Given the description of an element on the screen output the (x, y) to click on. 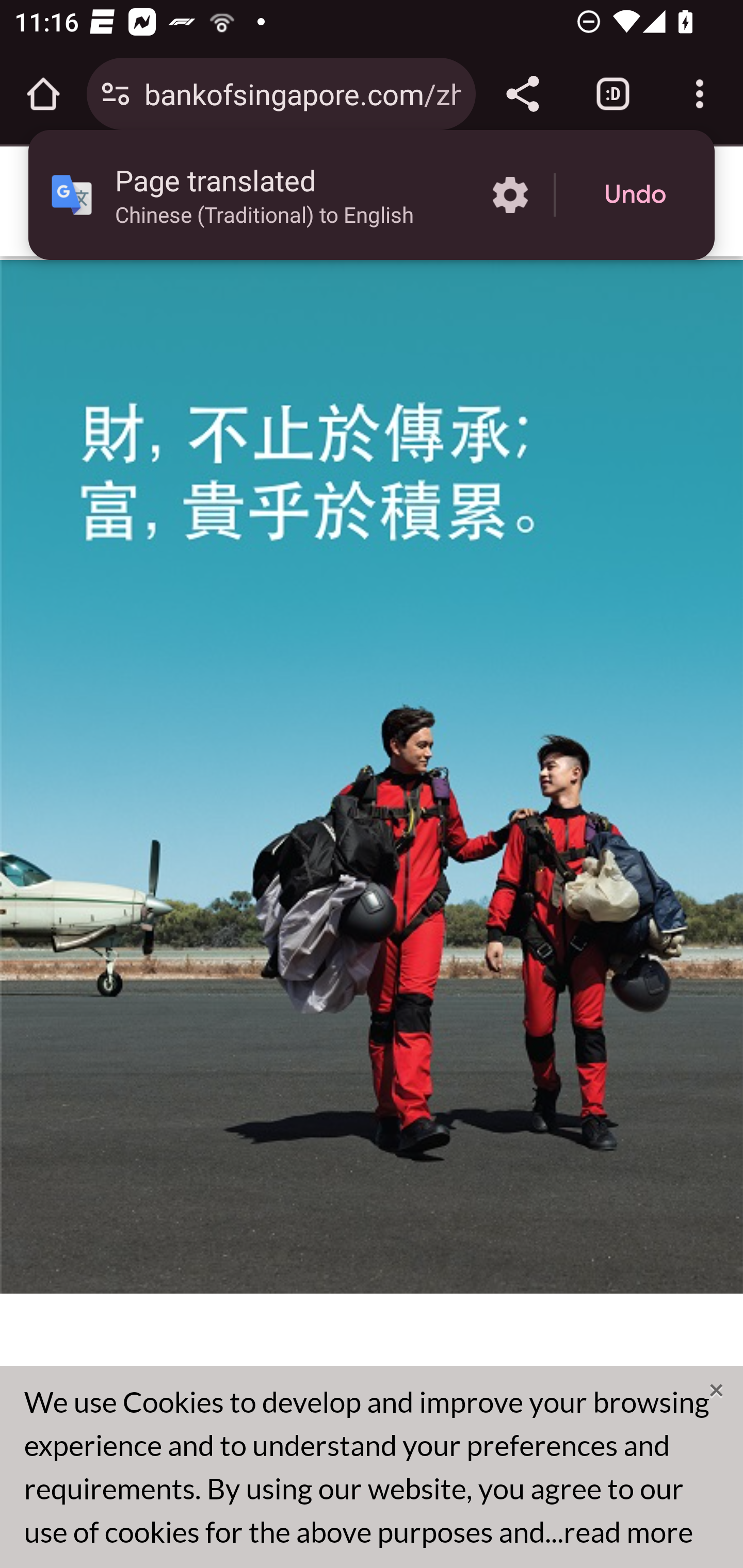
Open the home page (43, 93)
Connection is secure (115, 93)
Share (522, 93)
Switch or close tabs (612, 93)
Customize and control Google Chrome (699, 93)
Undo (634, 195)
More options in the Page translated (509, 195)
Close (716, 1389)
